Given the description of an element on the screen output the (x, y) to click on. 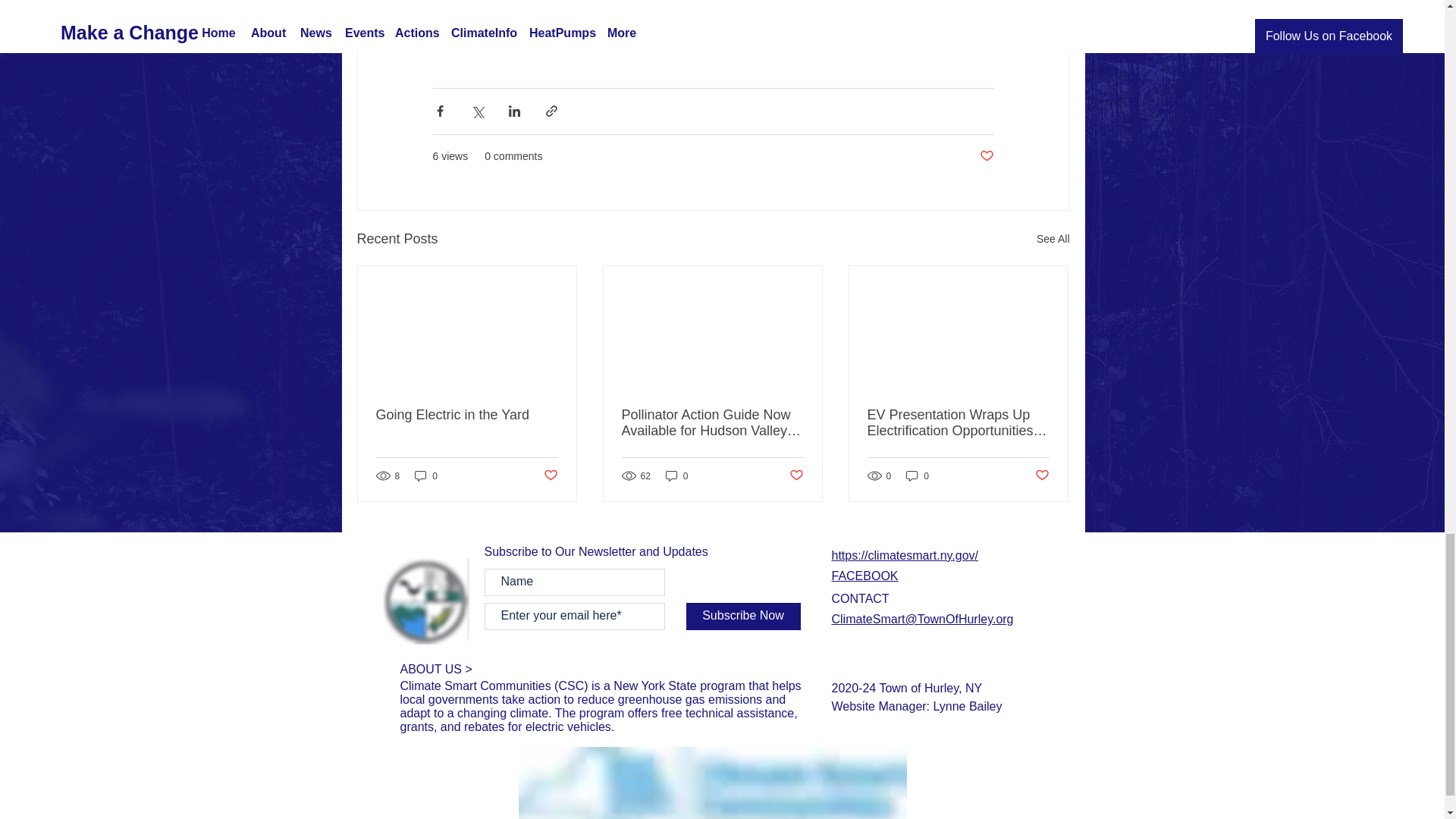
0 (917, 475)
Post not marked as liked (1040, 475)
Post not marked as liked (796, 475)
Visit Town of Hurley Website (424, 600)
Post not marked as liked (550, 475)
See All (1053, 238)
0 (676, 475)
Going Electric in the Yard (466, 414)
Post not marked as liked (986, 156)
0 (426, 475)
